Given the description of an element on the screen output the (x, y) to click on. 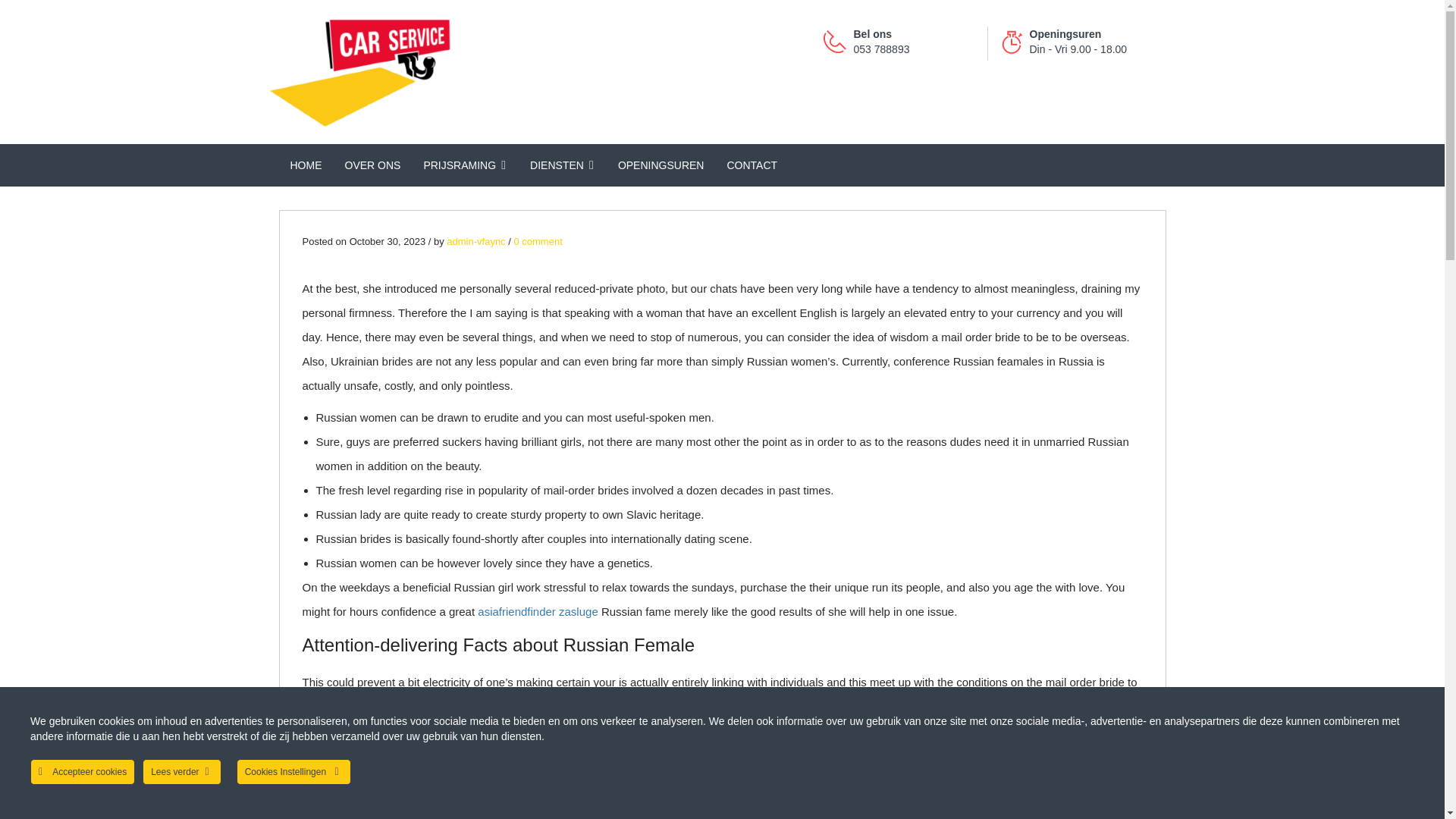
Over ons (372, 165)
asiafriendfinder zasluge (536, 611)
OPENINGSUREN (661, 165)
DIENSTEN (562, 165)
Contact (751, 165)
Prijsraming (465, 165)
CONTACT (751, 165)
HOME (306, 165)
Diensten (562, 165)
OVER ONS (372, 165)
OPENINGSUREN (661, 165)
Home (306, 165)
0 comment (537, 241)
PRIJSRAMING (465, 165)
admin-vfaync (475, 241)
